Given the description of an element on the screen output the (x, y) to click on. 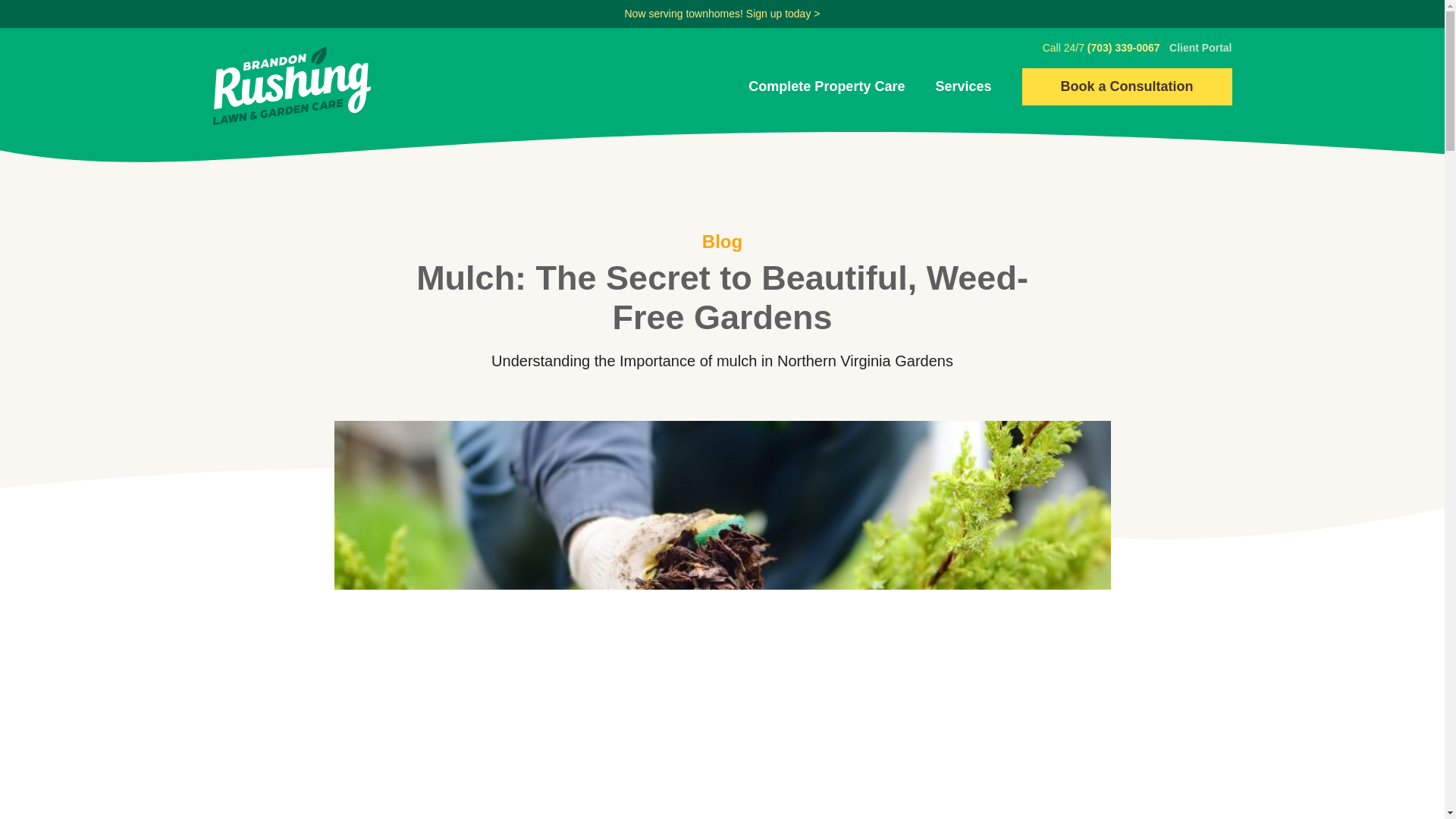
Client Portal (1200, 48)
Complete Property Care (826, 86)
Book a Consultation (1126, 86)
Services (962, 86)
